Given the description of an element on the screen output the (x, y) to click on. 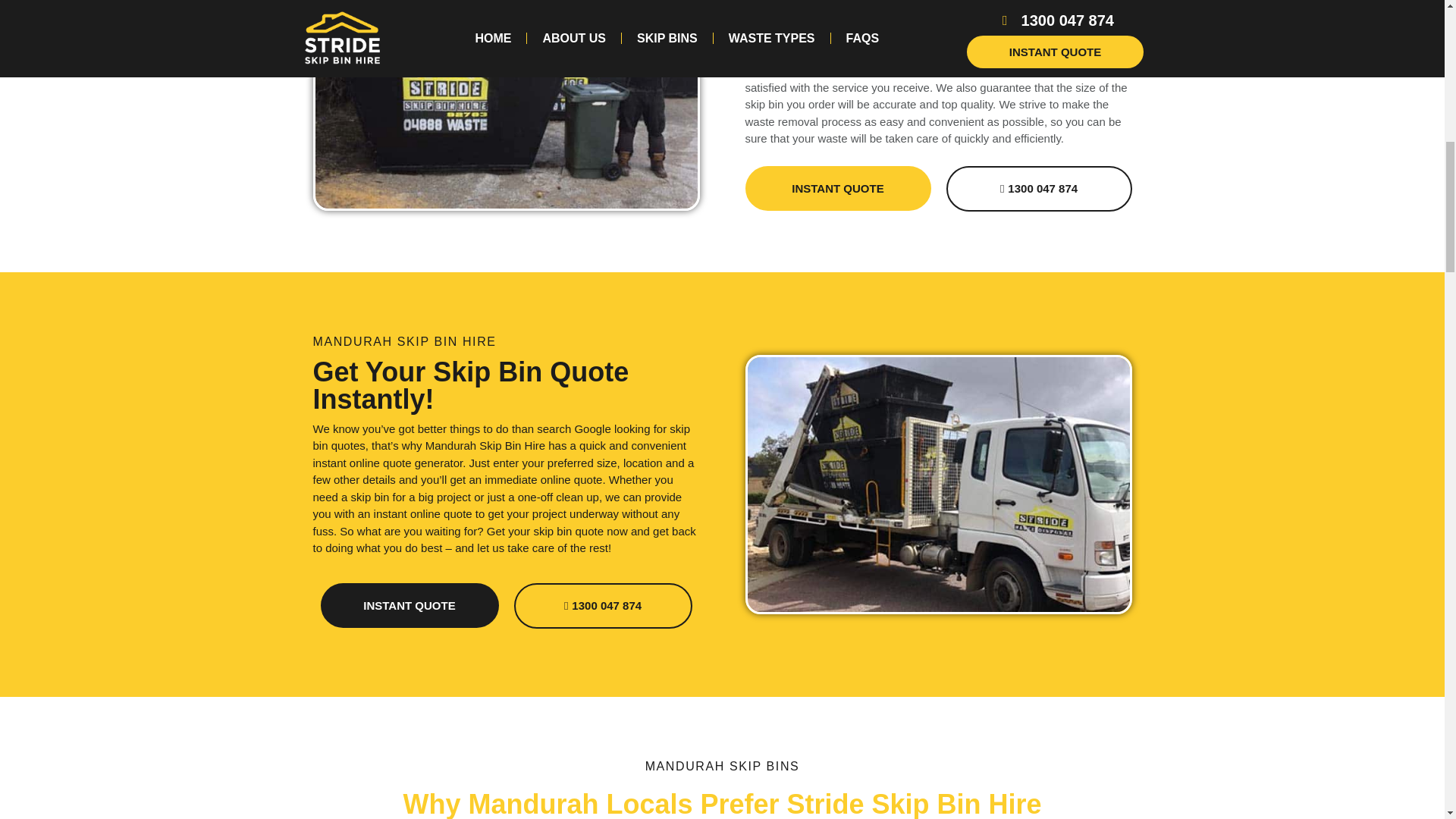
1300 047 874 (1039, 188)
INSTANT QUOTE (408, 605)
INSTANT QUOTE (837, 188)
1300 047 874 (603, 605)
